Given the description of an element on the screen output the (x, y) to click on. 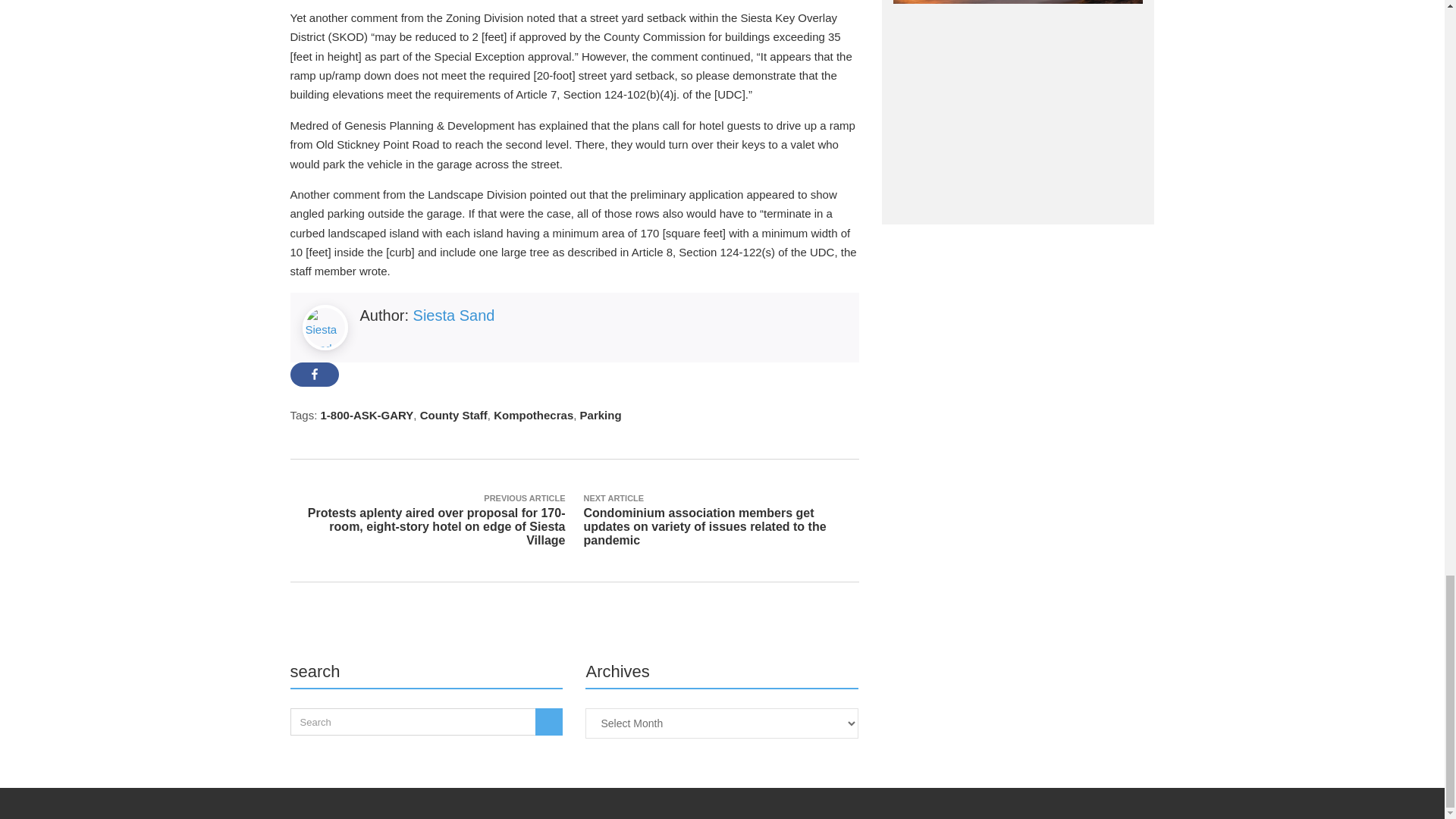
YouTube video player (1017, 108)
Share on Facebook (313, 374)
